Given the description of an element on the screen output the (x, y) to click on. 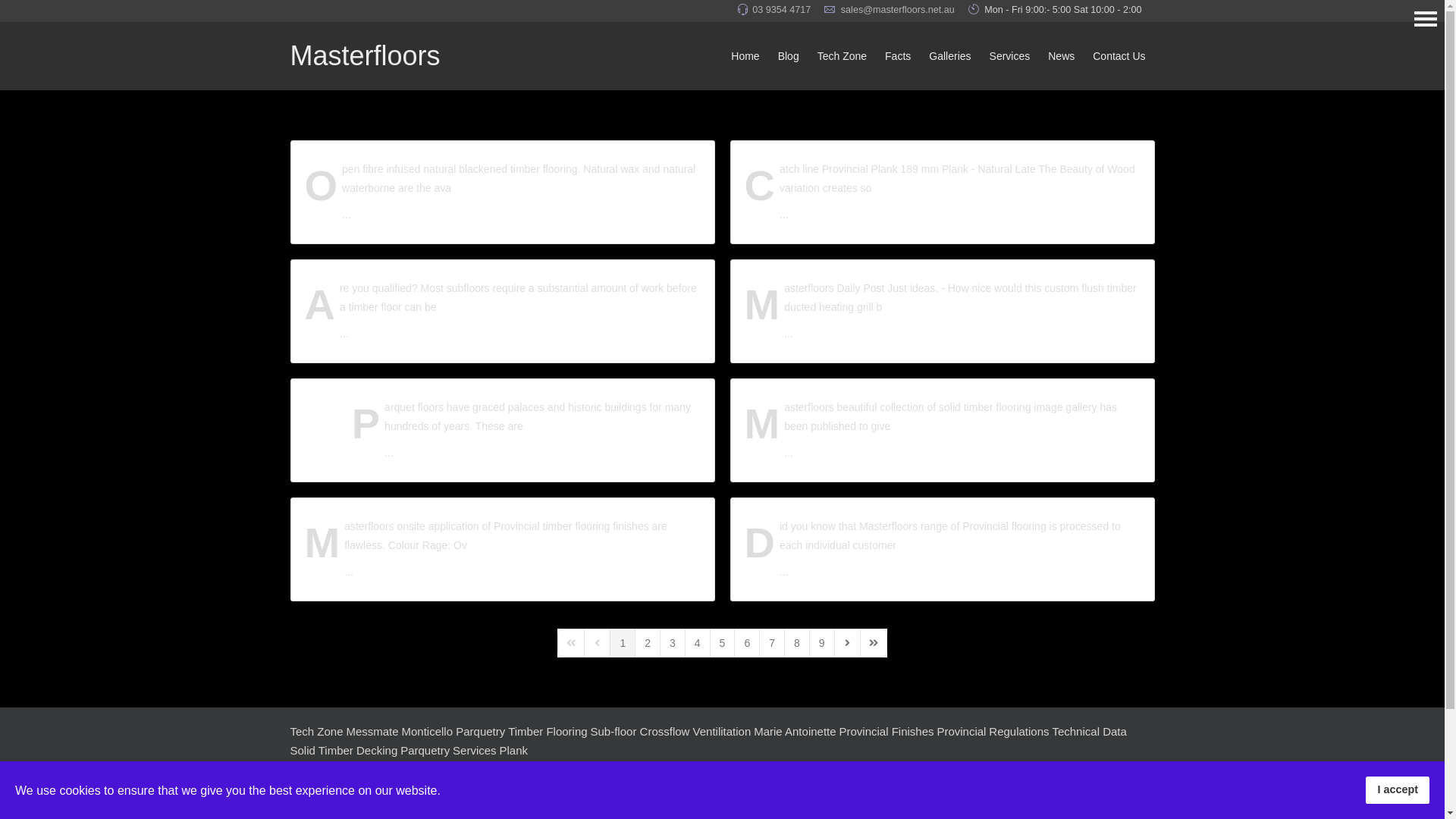
8 Element type: text (796, 642)
Services Element type: text (1009, 55)
Galleries Element type: text (949, 55)
Technical Data Element type: text (1088, 730)
Plank Element type: text (512, 749)
First Page Element type: text (570, 642)
Provincial Element type: text (960, 730)
Tech Zone Element type: text (841, 55)
Masterfloors Element type: text (364, 55)
Monticello Parquetry Element type: text (453, 730)
Next Page Element type: text (847, 642)
1 Element type: text (622, 642)
Solid Element type: text (301, 749)
3 Element type: text (672, 642)
6 Element type: text (746, 642)
Marie Antoinette Element type: text (794, 730)
Timber Decking Element type: text (357, 749)
Messmate Element type: text (371, 730)
Facts Element type: text (897, 55)
Services Element type: text (474, 749)
Blog Element type: text (788, 55)
03 9354 4717 Element type: text (781, 9)
5 Element type: text (722, 642)
sales@masterfloors.net.au Element type: text (897, 9)
2 Element type: text (647, 642)
Provincial Finishes Element type: text (885, 730)
Previous Page Element type: text (597, 642)
Contact Us Element type: text (1118, 55)
Regulations Element type: text (1018, 730)
Sub-floor Crossflow Ventilitation Element type: text (670, 730)
9 Element type: text (821, 642)
Parquetry Element type: text (424, 749)
I accept Element type: text (1397, 789)
Tech Zone Element type: text (315, 730)
4 Element type: text (697, 642)
News Element type: text (1060, 55)
7 Element type: text (771, 642)
Home Element type: text (744, 55)
Timber Flooring Element type: text (547, 730)
Last Page Element type: text (873, 642)
